Given the description of an element on the screen output the (x, y) to click on. 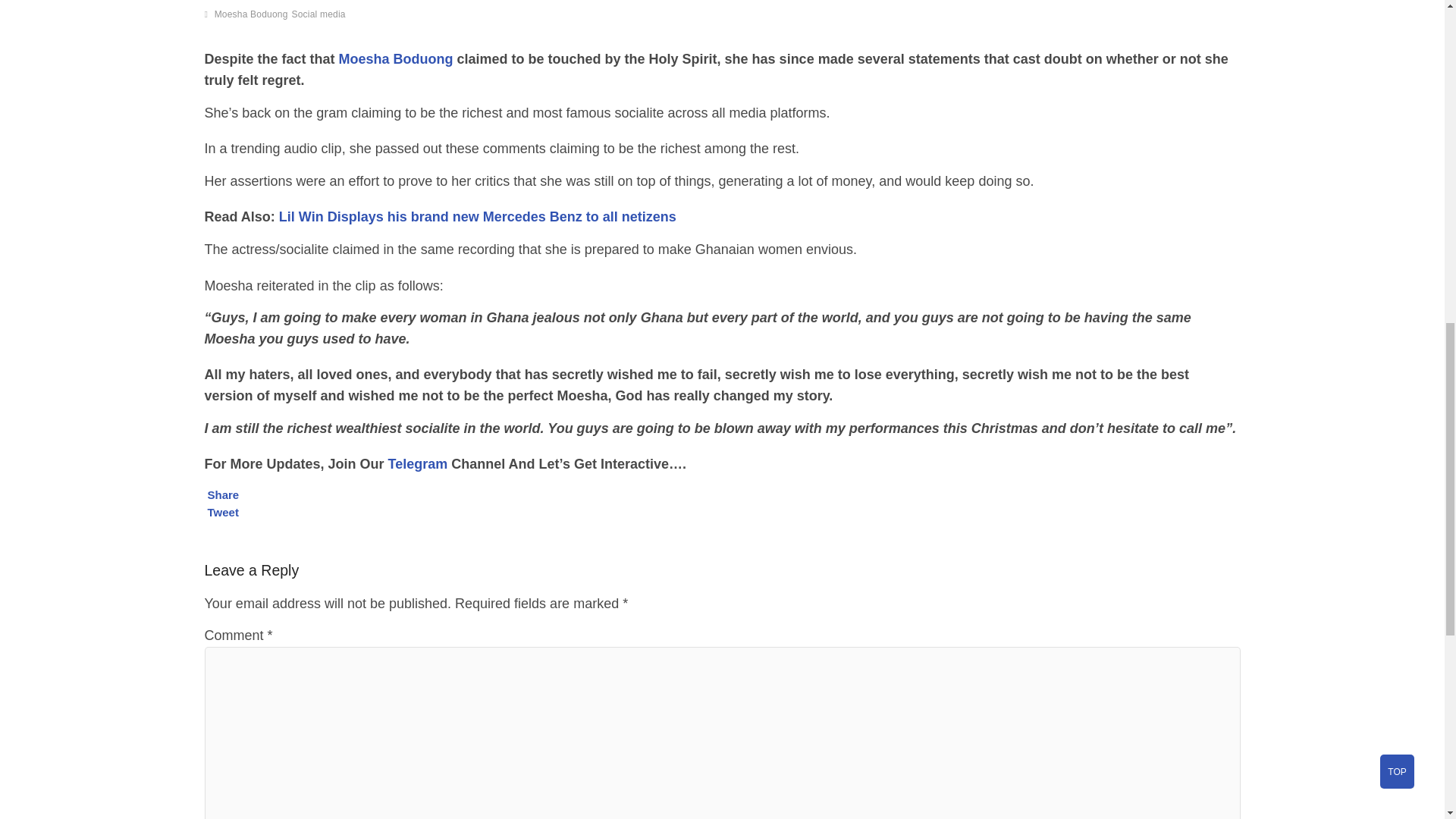
Moesha Boduong (395, 58)
Share (224, 494)
Telegram (418, 463)
Social media (320, 16)
Moesha Boduong (253, 16)
Lil Win Displays his brand new Mercedes Benz to all netizens (478, 216)
Tweet (223, 512)
